Given the description of an element on the screen output the (x, y) to click on. 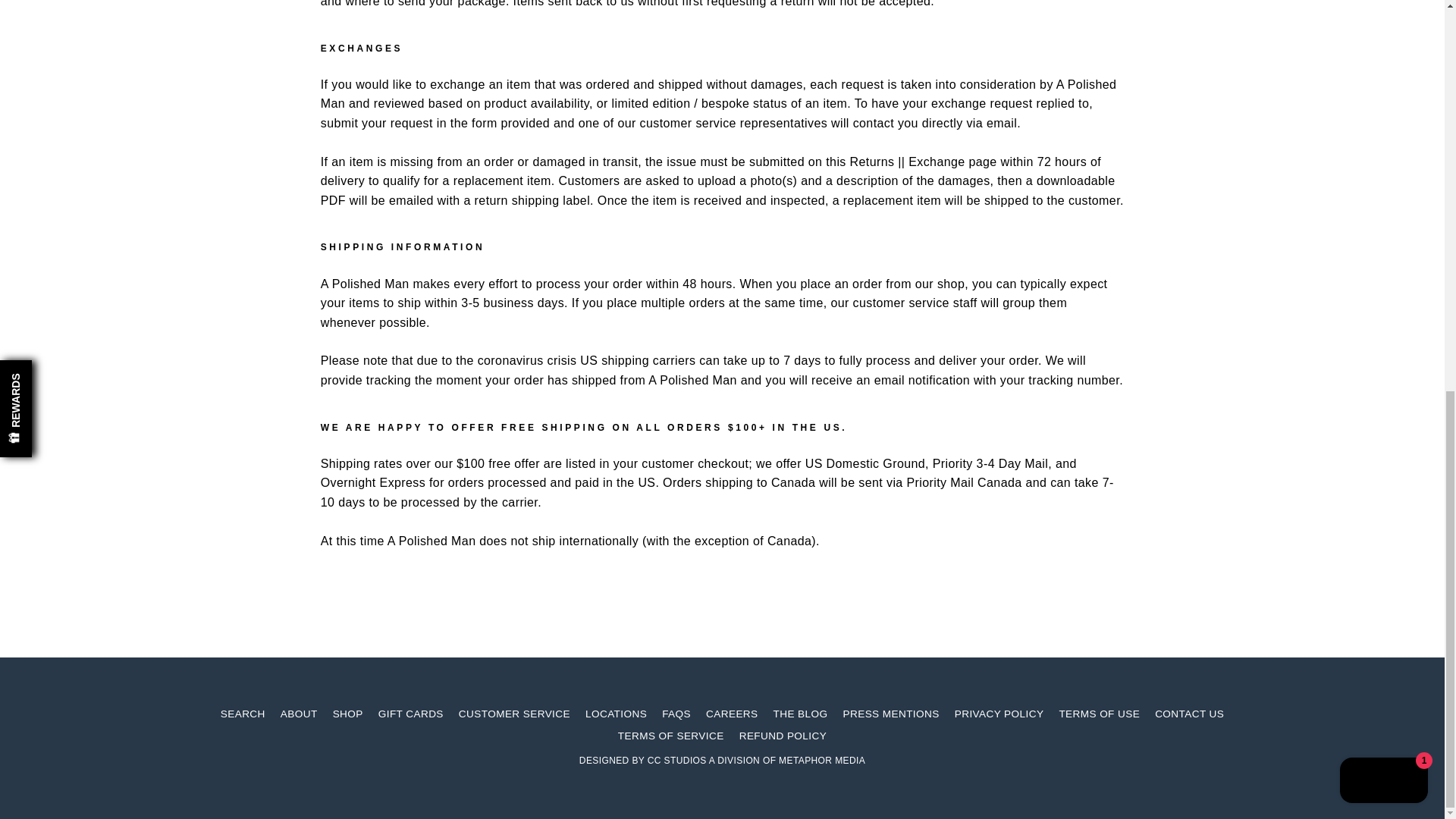
Shopify online store chat (1383, 34)
